Given the description of an element on the screen output the (x, y) to click on. 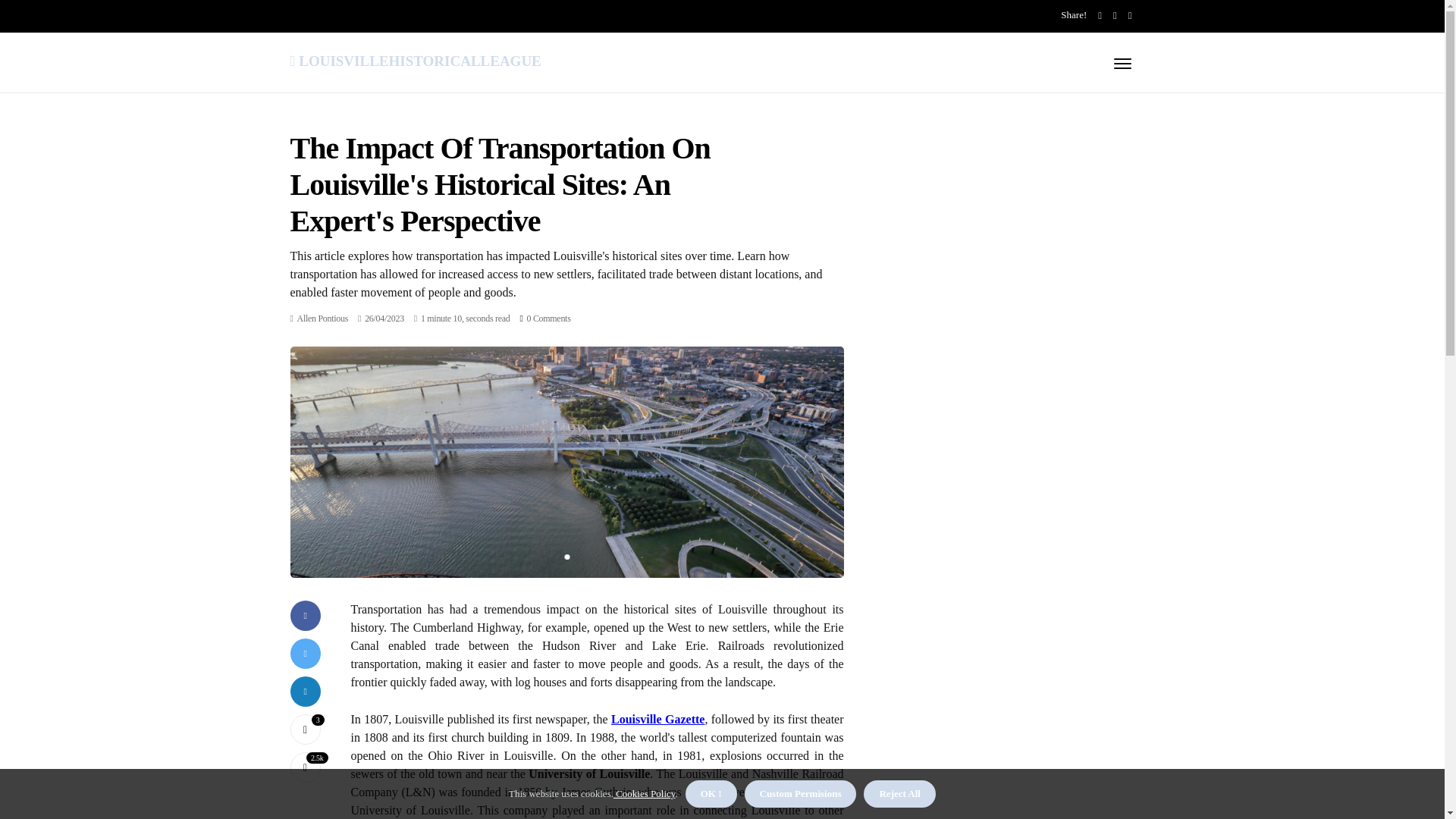
louisvillehistoricalleague (414, 58)
3 (304, 729)
0 Comments (547, 317)
Posts by Allen Pontious (322, 317)
Like (304, 729)
Louisville Gazette (657, 718)
Allen Pontious (322, 317)
